Given the description of an element on the screen output the (x, y) to click on. 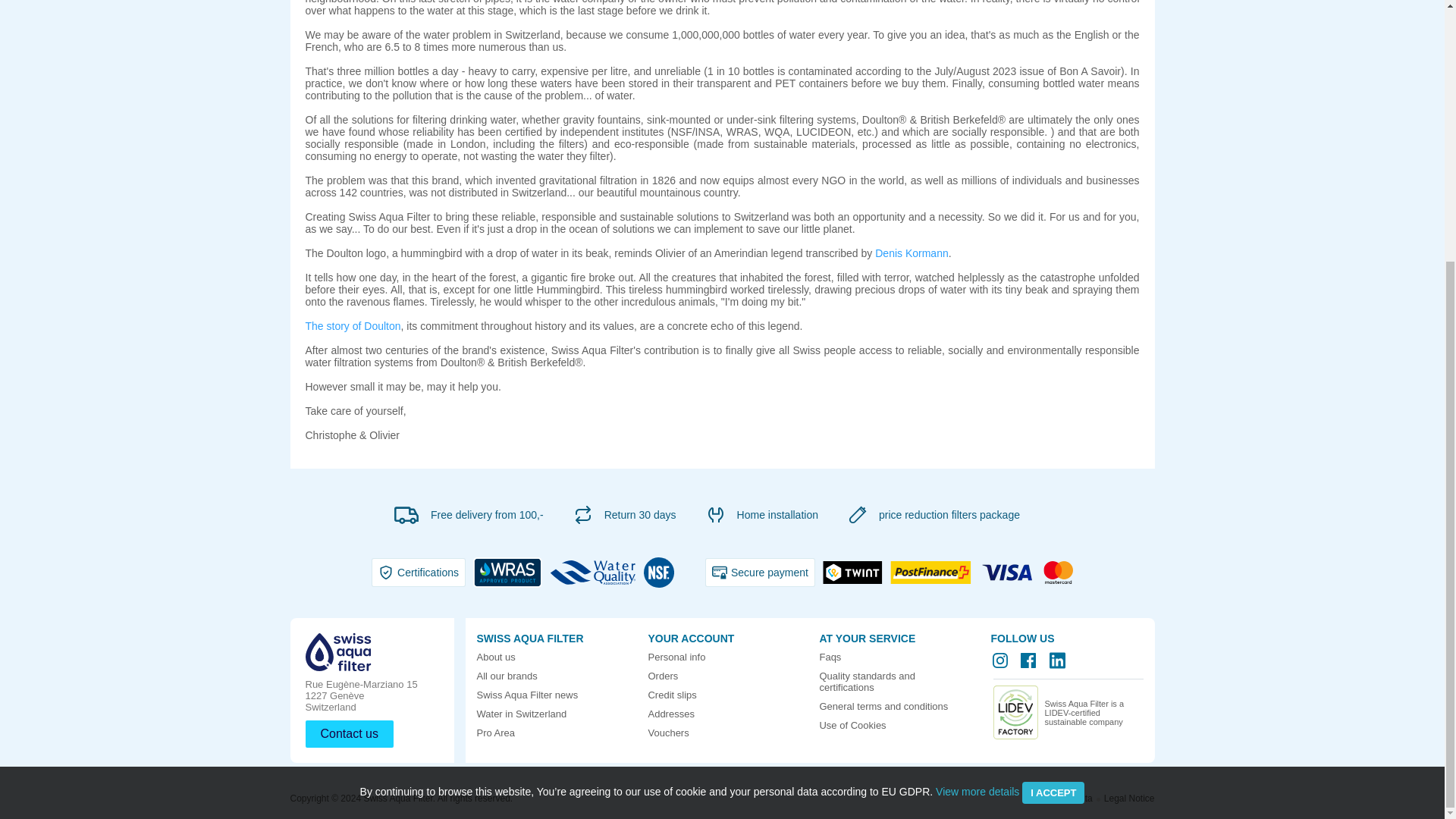
Water in Switzerland (521, 713)
Secure payment (759, 572)
Pro Area (495, 732)
Swiss Aqua Filter news (527, 695)
Contact us (348, 733)
I accept (1053, 417)
About us (495, 656)
View more details (977, 416)
Certifications (418, 572)
Free delivery from 100,- (486, 514)
Home installation (777, 514)
All our brands (506, 675)
Swissaquafilter : (829, 656)
Return 30 days (640, 514)
price reduction filters package (949, 514)
